Given the description of an element on the screen output the (x, y) to click on. 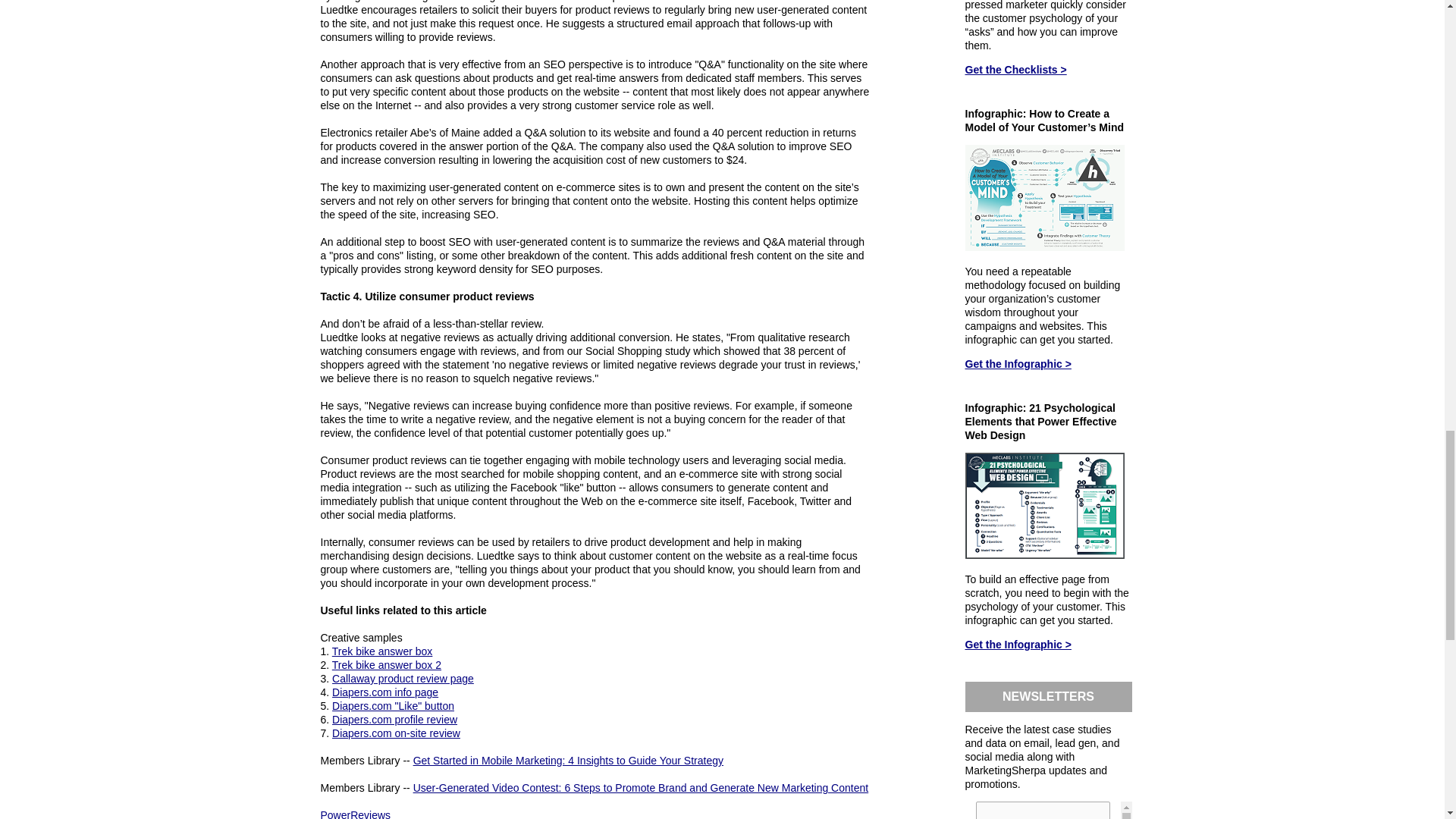
Diapers.com on-site review (395, 733)
Callaway product review page (402, 678)
Trek bike answer box 2 (386, 664)
PowerReviews (355, 814)
Diapers.com profile review (394, 719)
Diapers.com info page (384, 692)
Diapers.com "Like" button (392, 705)
Trek bike answer box (381, 651)
